Given the description of an element on the screen output the (x, y) to click on. 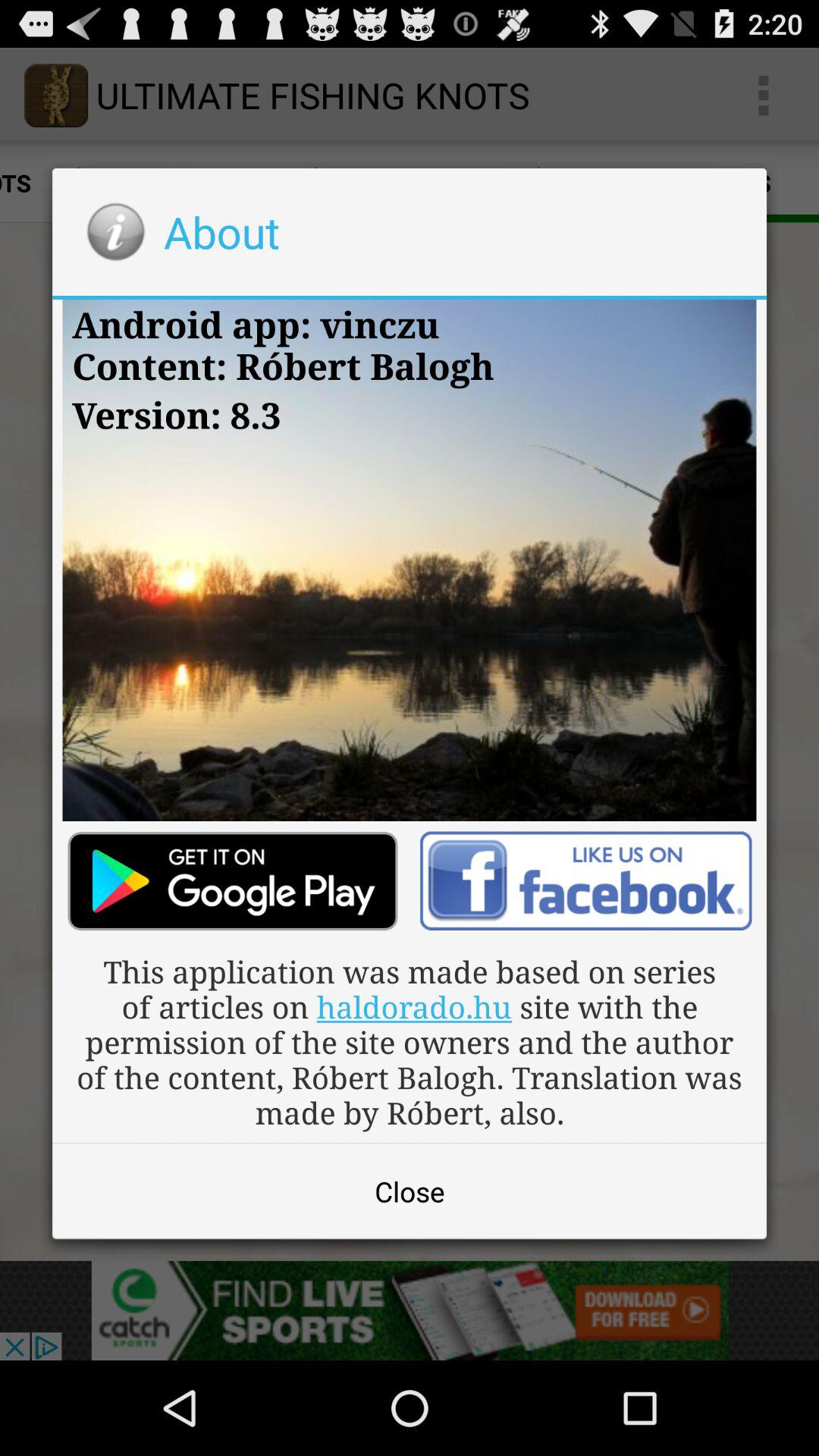
go back (585, 880)
